Given the description of an element on the screen output the (x, y) to click on. 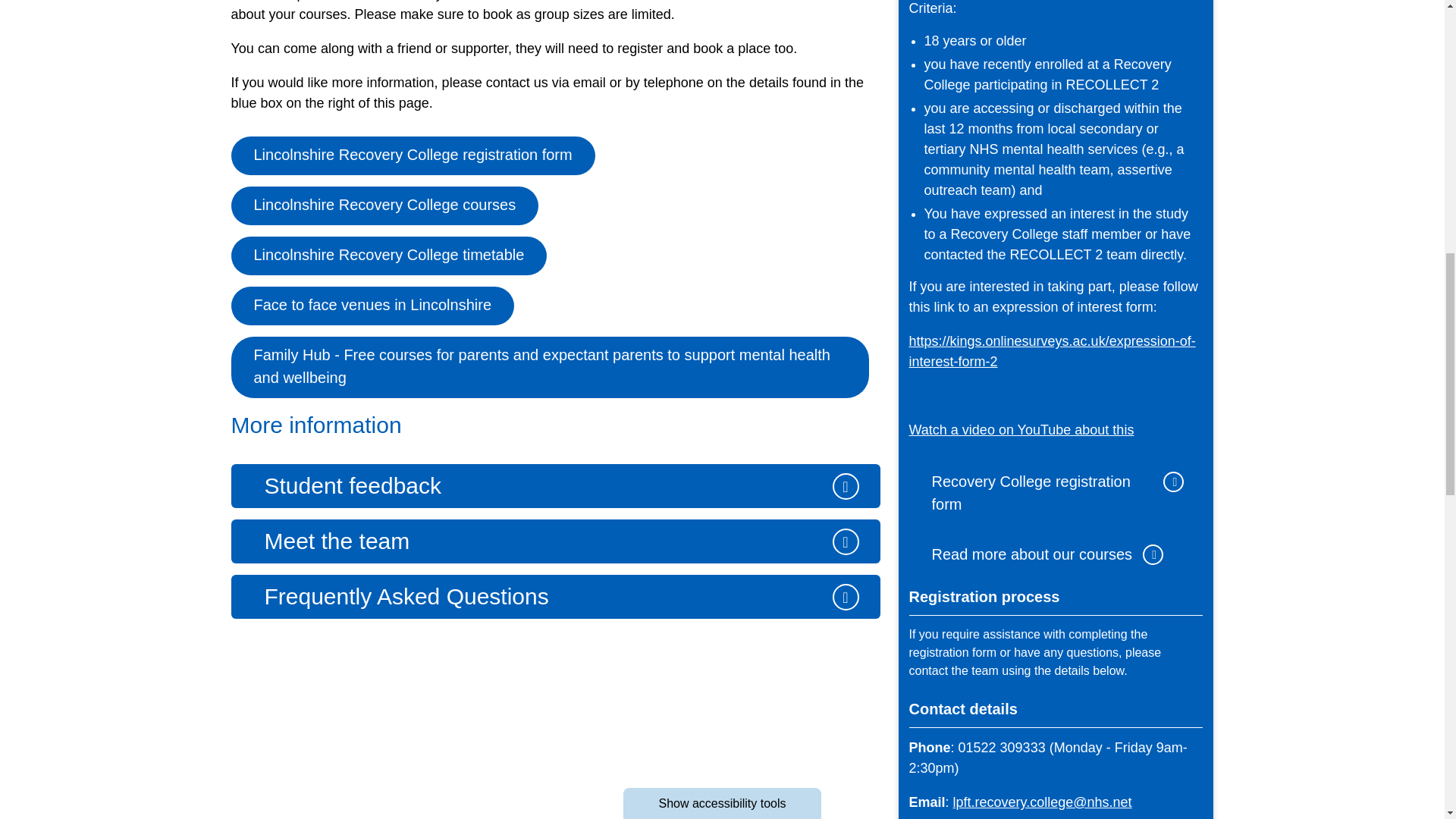
Lincolnshire Recovery College courses (1039, 555)
Recovery College registration form (1049, 493)
Recovery College registration form (412, 155)
Lincolnshire Recovery College courses (384, 205)
Lincolnshire Recovery College timetable (388, 255)
Face to face venues (371, 305)
